Given the description of an element on the screen output the (x, y) to click on. 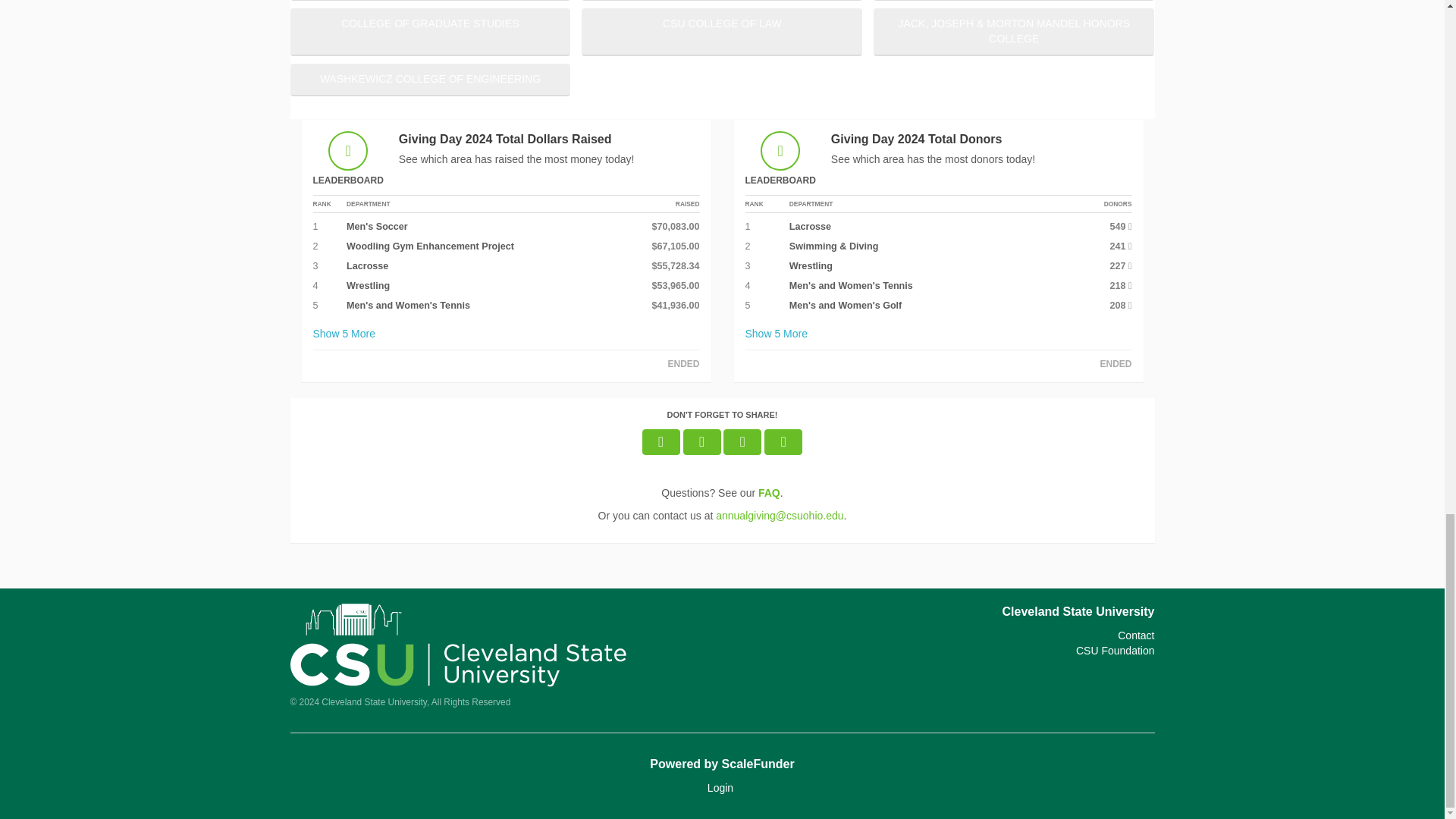
Show 5 More (344, 333)
Share Plain (783, 442)
FAQ (769, 492)
WASHKEWICZ COLLEGE OF ENGINEERING (429, 79)
Contact (1136, 635)
CSU Foundation (1114, 650)
Login (720, 787)
Show 5 More (776, 333)
